Given the description of an element on the screen output the (x, y) to click on. 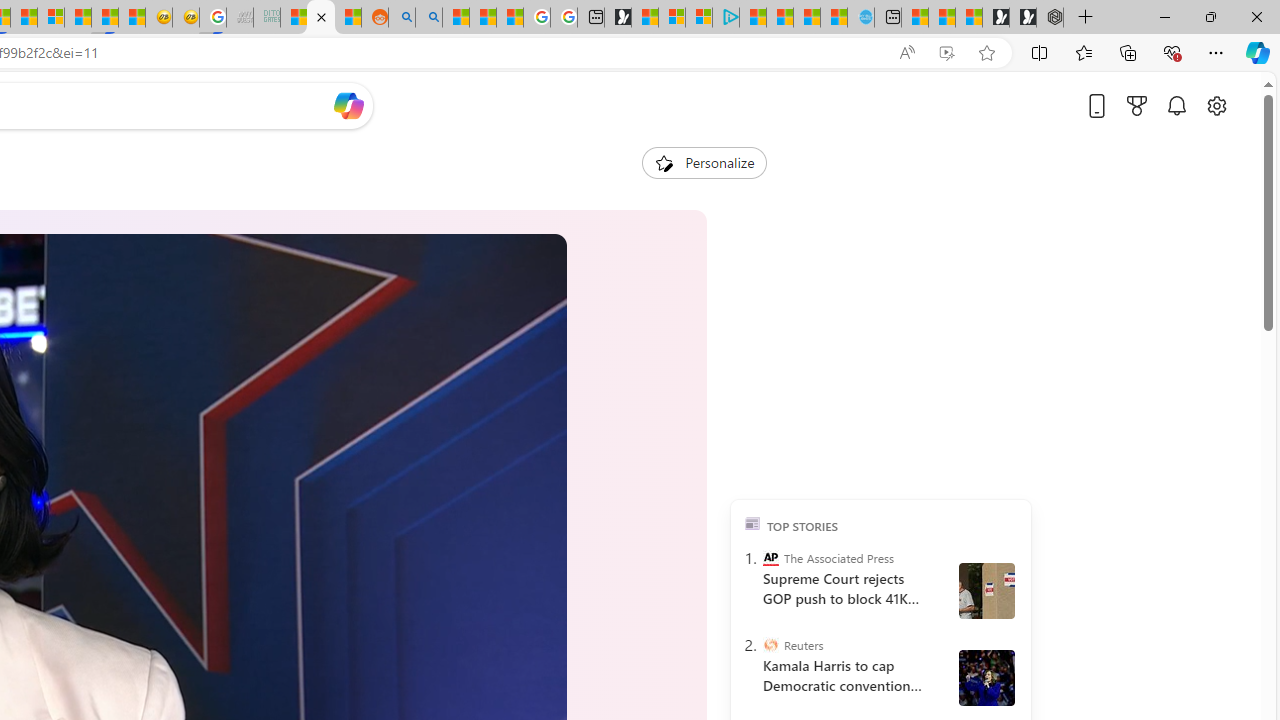
14 Common Myths Debunked By Scientific Facts (24, 17)
DITOGAMES AG Imprint - Sleeping (266, 17)
Enhance video (946, 53)
